Given the description of an element on the screen output the (x, y) to click on. 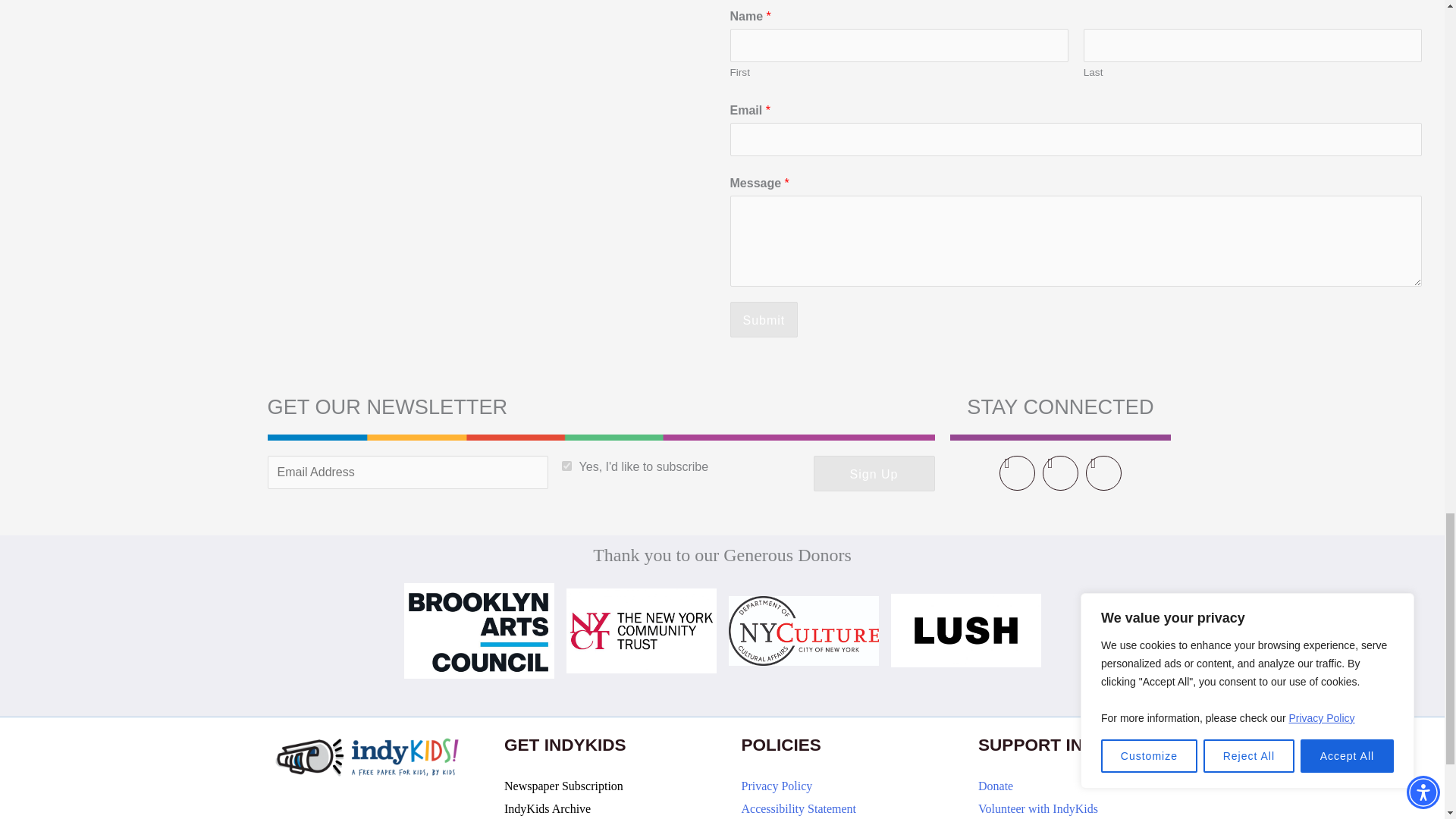
1 (567, 465)
